Given the description of an element on the screen output the (x, y) to click on. 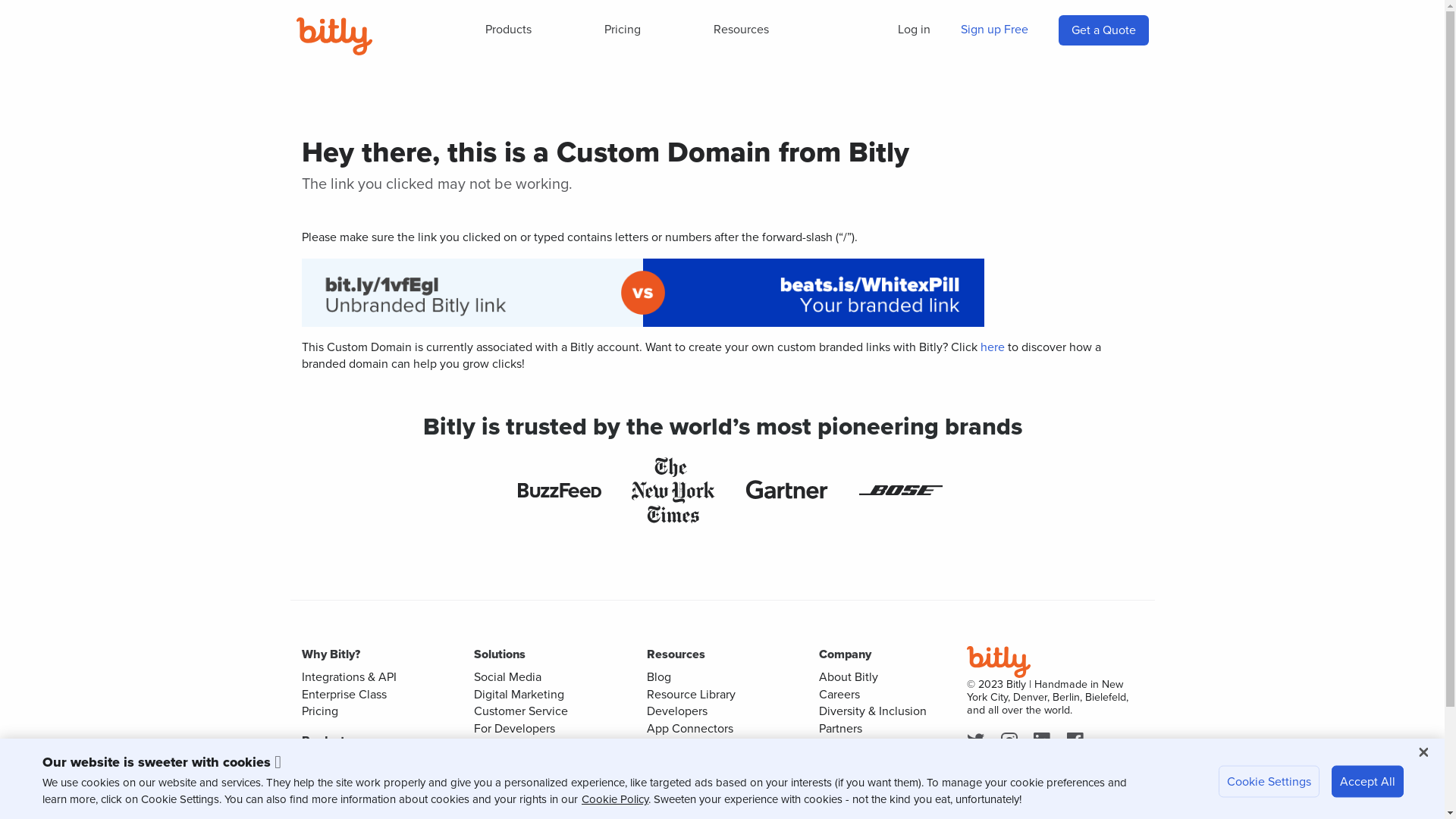
About Bitly Element type: text (848, 676)
Digital Marketing Element type: text (518, 693)
Social Media Element type: text (507, 676)
For Developers Element type: text (514, 728)
Press Element type: text (833, 744)
Blog Element type: text (658, 676)
Sign up Free Element type: text (993, 29)
Pricing Element type: text (319, 710)
Partners Element type: text (840, 728)
Mobile Links Element type: text (506, 797)
Resources Element type: text (741, 29)
Products Element type: text (508, 29)
Contact Element type: text (839, 761)
Customer Service Element type: text (520, 710)
App Connectors Element type: text (689, 728)
twitter Element type: text (977, 742)
Trust Center Element type: text (678, 761)
Get a Quote Element type: text (1102, 29)
Cookie Settings Element type: text (1268, 781)
QR Codes Element type: text (328, 779)
Enterprise Class Element type: text (343, 693)
Diversity & Inclusion Element type: text (872, 710)
Accept All Element type: text (1367, 781)
Link Management Element type: text (348, 762)
Integrations & API Element type: text (348, 676)
Careers Element type: text (839, 693)
here Element type: text (991, 346)
Resource Library Element type: text (690, 693)
linkedin Element type: text (1044, 742)
Cookie Policy Element type: text (614, 798)
Pricing Element type: text (622, 29)
Developers Element type: text (676, 710)
Browser Extension Element type: text (695, 778)
Log in Element type: text (913, 29)
Mobile App Element type: text (676, 795)
Support Element type: text (666, 744)
Facebook Element type: text (1077, 742)
Link-in-bio Element type: text (329, 797)
Reviews Element type: text (841, 778)
Branded Links Element type: text (511, 779)
